Given the description of an element on the screen output the (x, y) to click on. 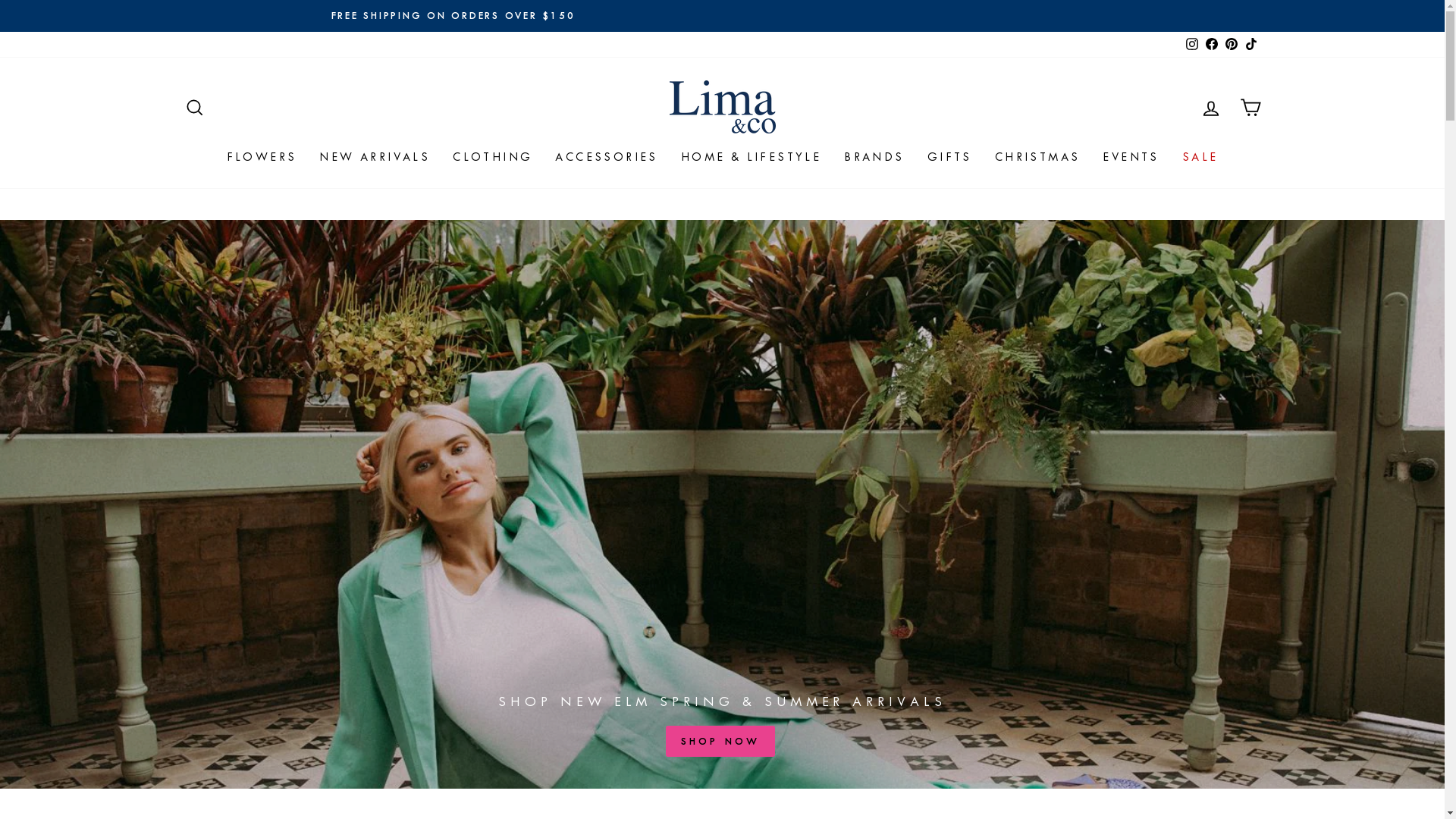
SHOP NOW Element type: text (720, 741)
CLOTHING Element type: text (492, 156)
FLOWERS Element type: text (261, 156)
SALE Element type: text (1200, 156)
TikTok Element type: text (1250, 44)
Instagram Element type: text (1191, 44)
EVENTS Element type: text (1130, 156)
Facebook Element type: text (1210, 44)
HOME & LIFESTYLE Element type: text (750, 156)
CHRISTMAS Element type: text (1037, 156)
LOG IN Element type: text (1210, 107)
BRANDS Element type: text (873, 156)
Pinterest Element type: text (1230, 44)
ACCESSORIES Element type: text (605, 156)
SEARCH Element type: text (193, 107)
Skip to content Element type: text (0, 0)
NEW ARRIVALS Element type: text (374, 156)
CART Element type: text (1249, 107)
GIFTS Element type: text (949, 156)
